Given the description of an element on the screen output the (x, y) to click on. 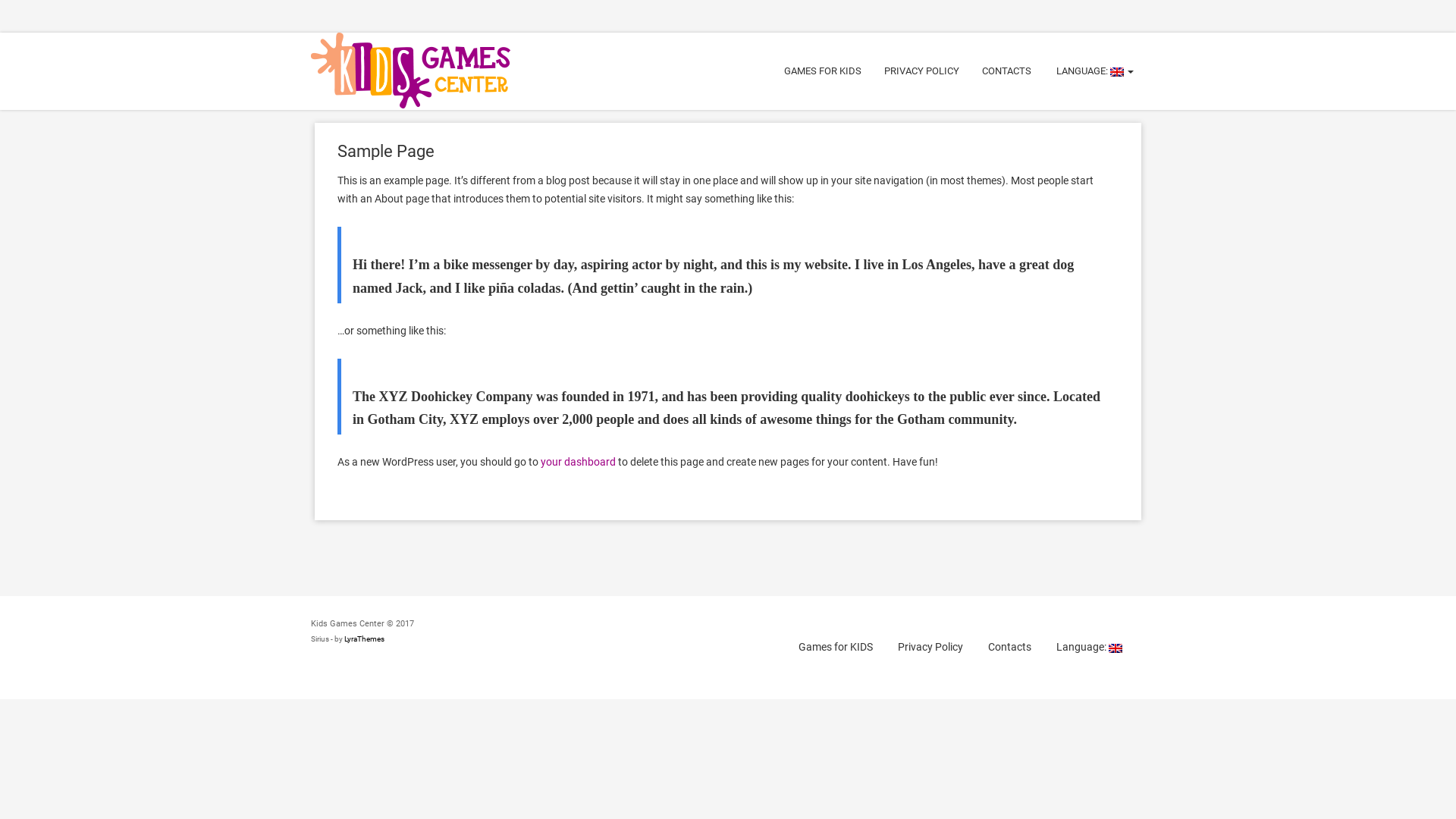
Language:  Element type: text (1089, 647)
CONTACTS Element type: text (1006, 70)
LyraThemes Element type: text (364, 638)
Games for KIDS Element type: text (835, 647)
 LANGUAGE:  Element type: text (1093, 70)
Privacy Policy Element type: text (930, 647)
GAMES FOR KIDS Element type: text (822, 70)
Contacts Element type: text (1009, 647)
PRIVACY POLICY Element type: text (921, 70)
your dashboard Element type: text (577, 461)
